Given the description of an element on the screen output the (x, y) to click on. 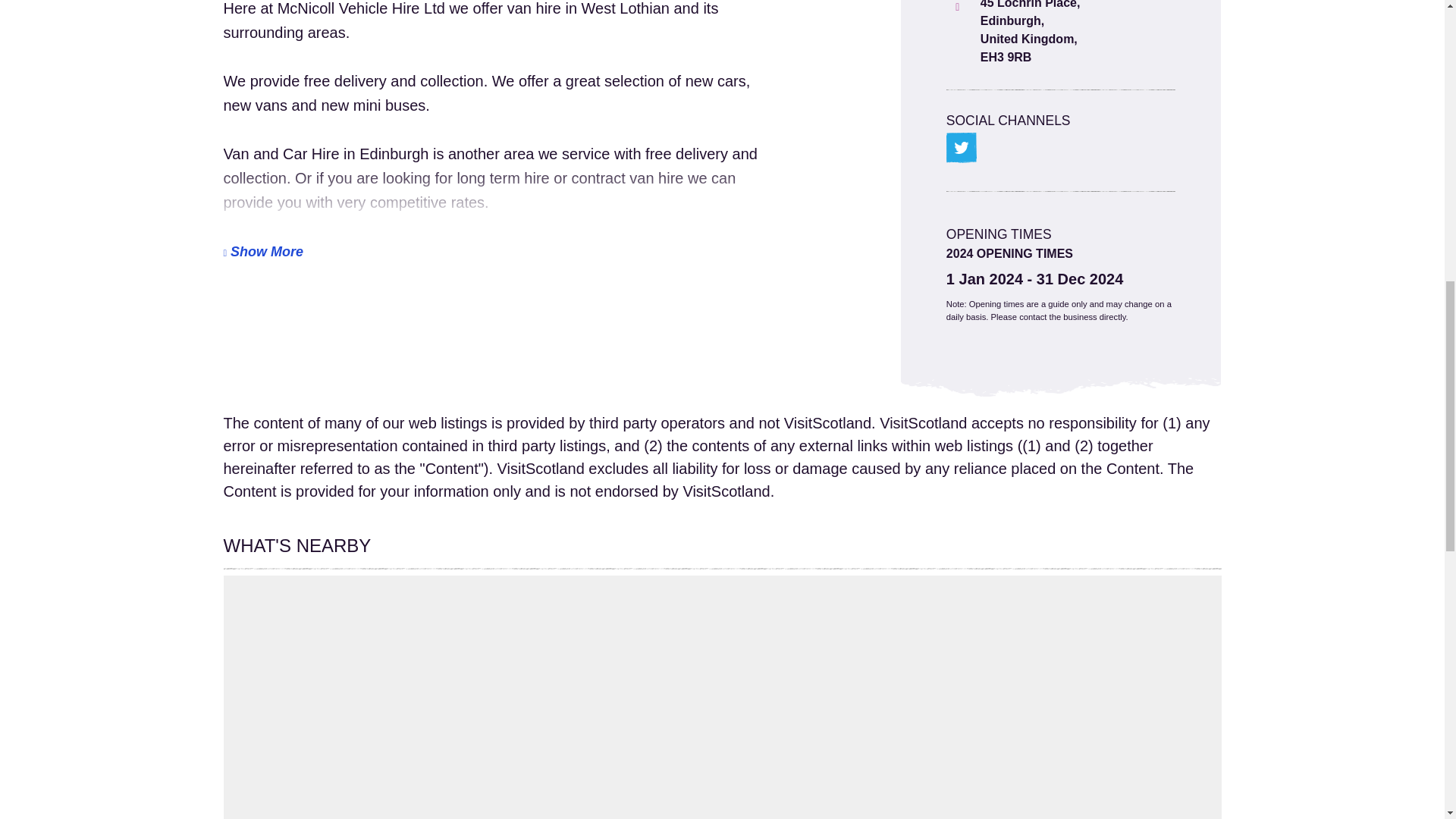
Twitter (961, 147)
